Given the description of an element on the screen output the (x, y) to click on. 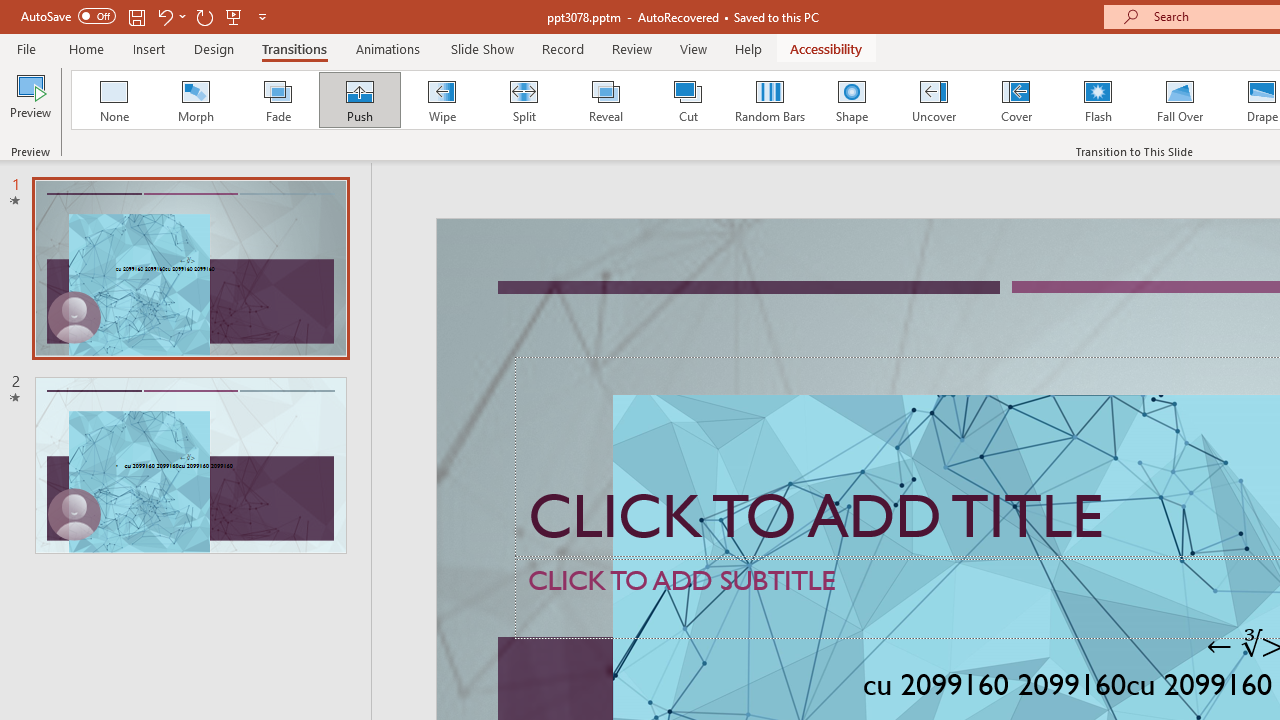
Push (359, 100)
Wipe (441, 100)
Morph (195, 100)
None (113, 100)
Uncover (934, 100)
Split (523, 100)
